Given the description of an element on the screen output the (x, y) to click on. 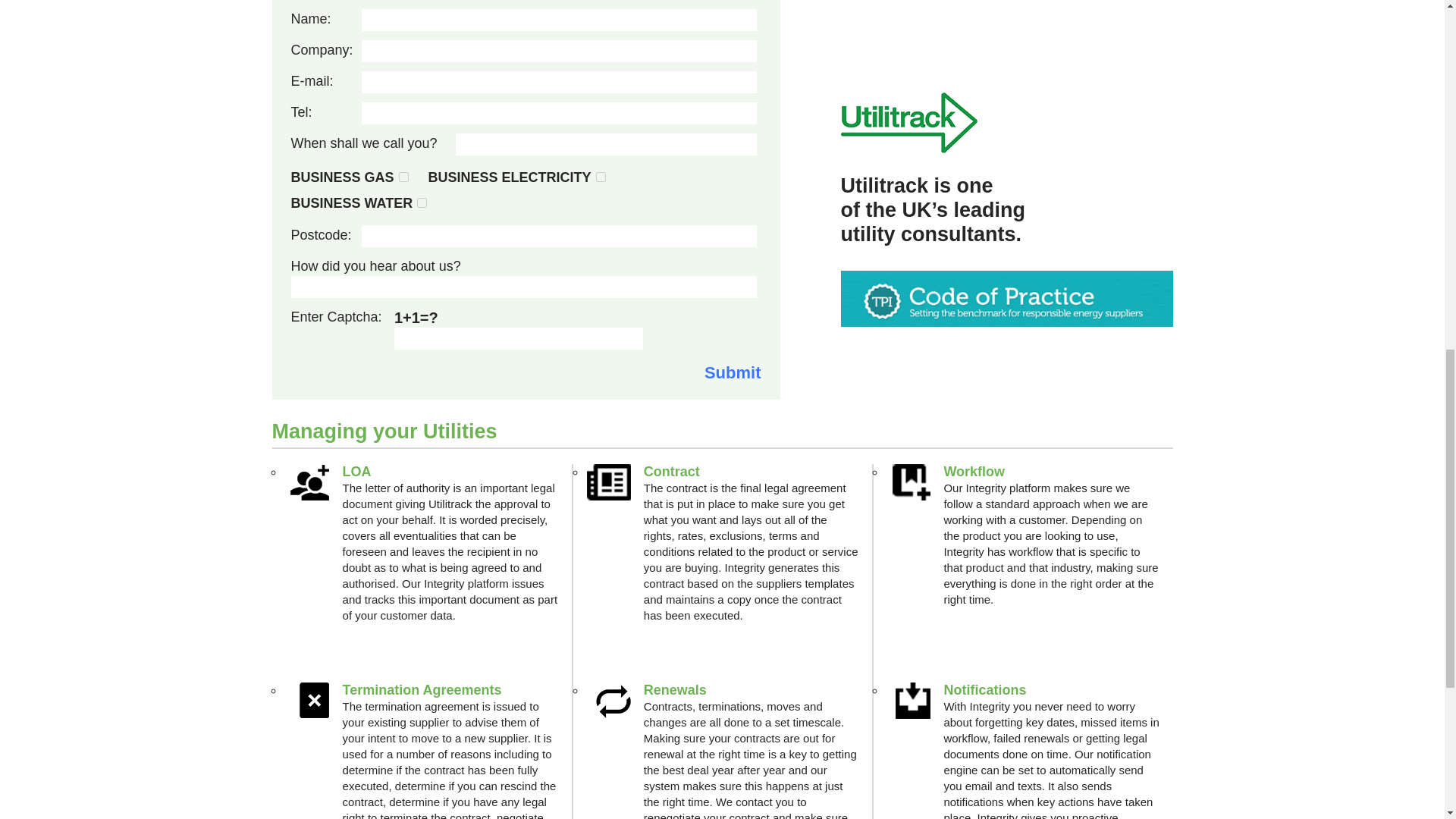
BUSINESS GAS (403, 176)
Submit (732, 373)
BUSINESS WATER (421, 203)
BUSINESS ELECTRICITY (600, 176)
Submit (732, 373)
